Given the description of an element on the screen output the (x, y) to click on. 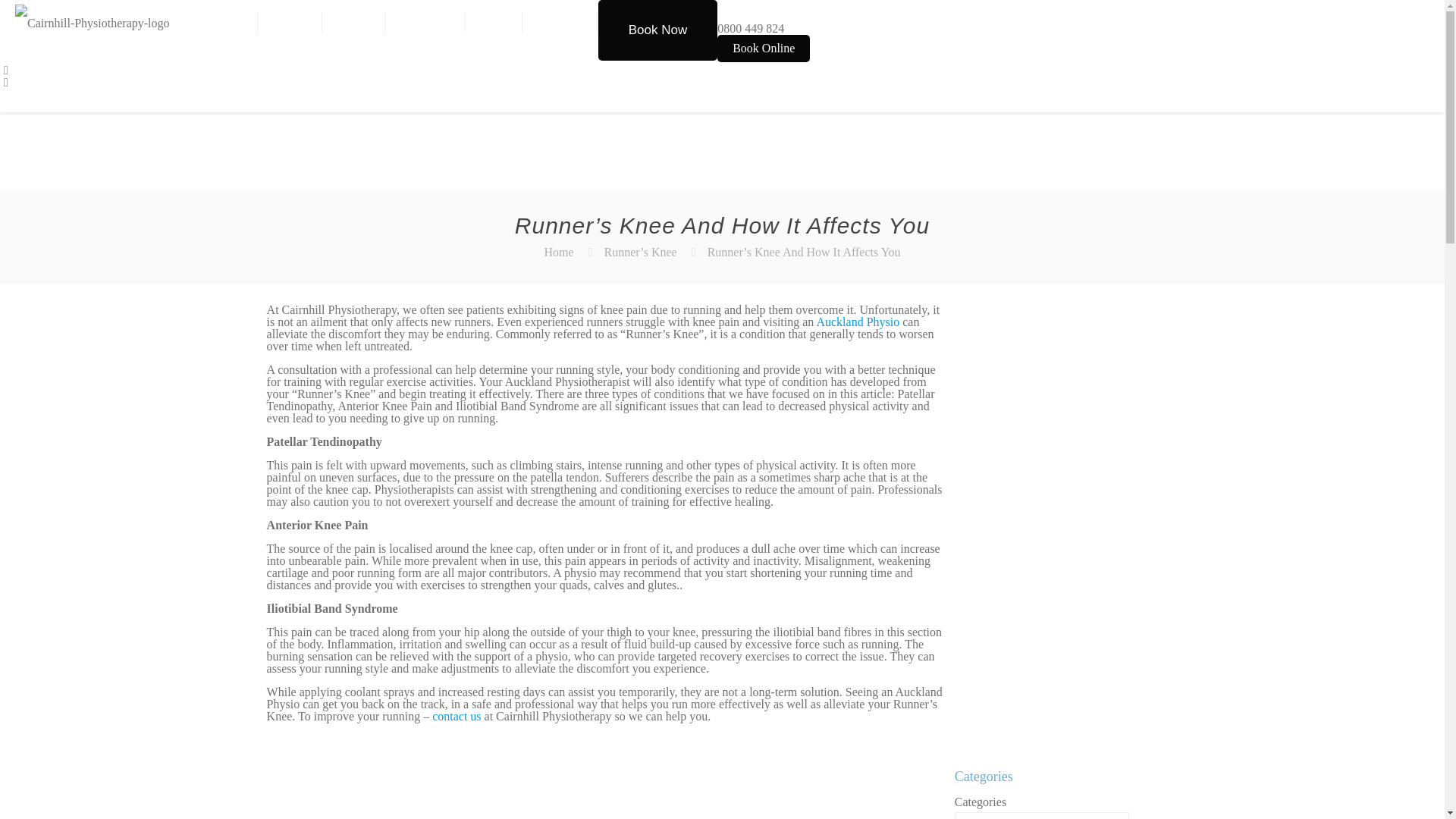
Team (353, 22)
0800 449 824 (750, 28)
About (289, 22)
FAQ (493, 22)
Services (425, 22)
Facebook (5, 69)
Home (558, 251)
contact us (456, 716)
Contact (560, 22)
Book Online (763, 48)
Auckland Physio (857, 321)
Home (224, 22)
Book Now (656, 30)
Instagram (5, 82)
Cairnhill Physiotherapy (92, 22)
